Given the description of an element on the screen output the (x, y) to click on. 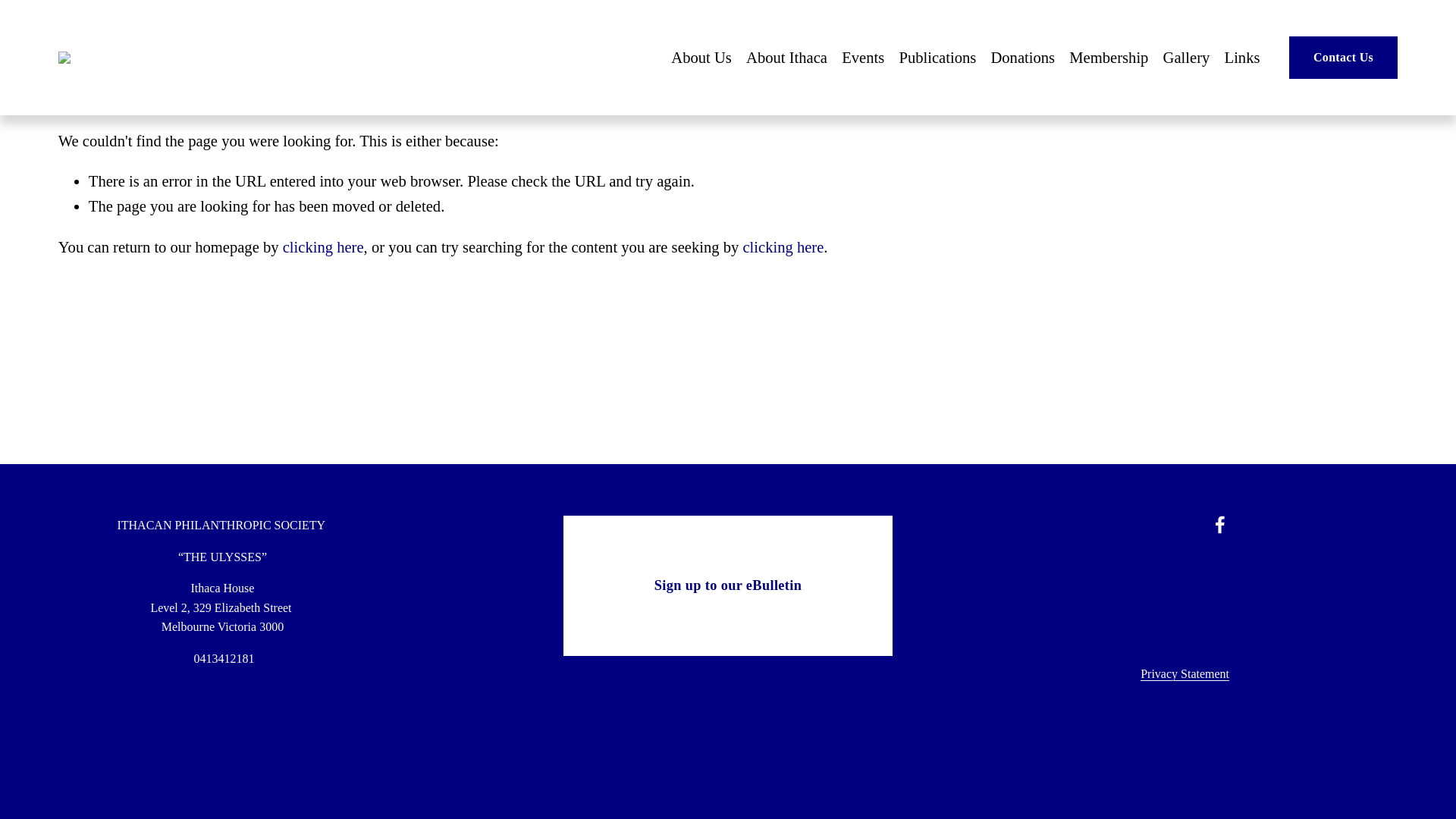
Contact Us (1342, 57)
Publications (936, 58)
Membership (1108, 58)
About Ithaca (786, 58)
Gallery (1186, 58)
Links (1242, 58)
About Us (701, 58)
Donations (1022, 58)
Events (862, 58)
